Given the description of an element on the screen output the (x, y) to click on. 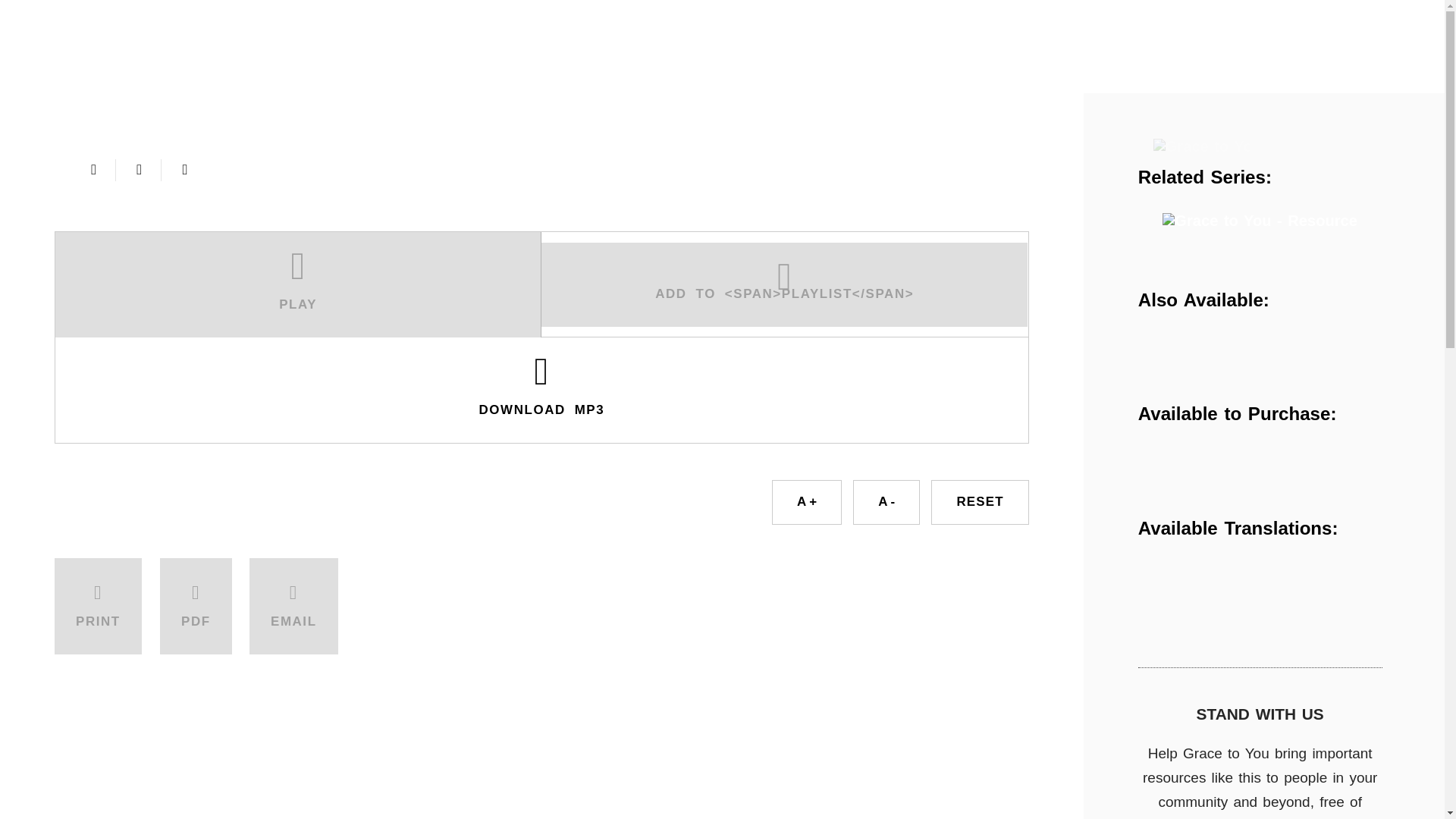
Grace-to-You (96, 32)
Grace to You (1201, 145)
BLOG (594, 76)
APPS (519, 76)
STORE (417, 76)
BROADCASTS (193, 76)
LISTEN NOW (474, 29)
800-55-GRACE (1240, 28)
SERMONS (808, 76)
ABOUT (81, 76)
